Given the description of an element on the screen output the (x, y) to click on. 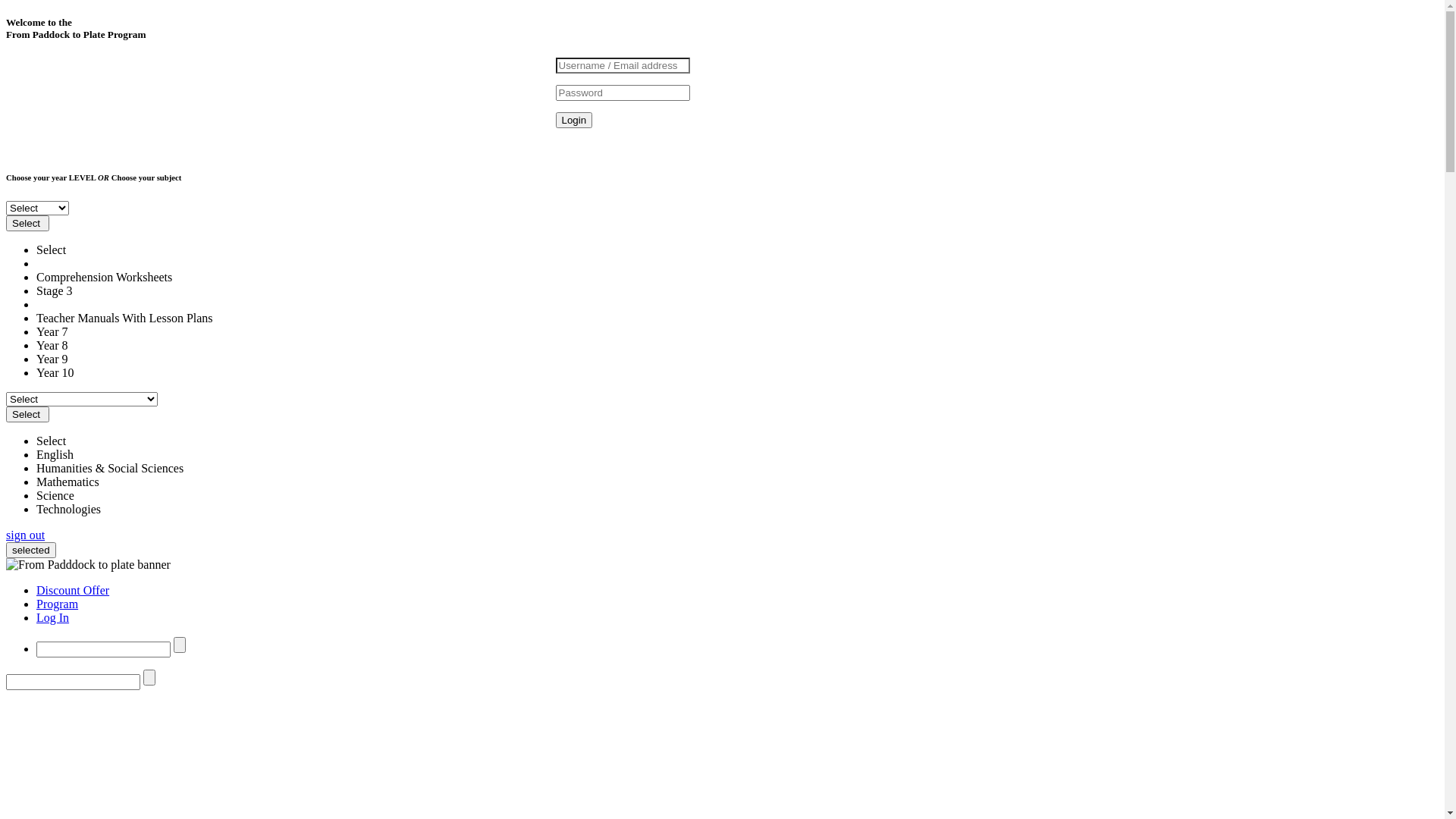
Technologies Element type: text (68, 508)
Year 10 Element type: text (54, 372)
Stage 3 Element type: text (54, 290)
Select  Element type: text (27, 414)
Year 9 Element type: text (51, 358)
Select  Element type: text (27, 223)
Select Element type: text (50, 440)
Program Element type: text (57, 603)
Year 8 Element type: text (51, 344)
Select Element type: text (50, 249)
Mathematics Element type: text (67, 481)
Lost your password? Element type: text (60, 146)
Year 7 Element type: text (51, 331)
Discount Offer Element type: text (72, 589)
sign out Element type: text (25, 534)
Login Element type: text (573, 120)
Science Element type: text (55, 495)
Humanities & Social Sciences Element type: text (109, 467)
selected Element type: text (31, 550)
English Element type: text (54, 454)
Log In Element type: text (52, 617)
